Given the description of an element on the screen output the (x, y) to click on. 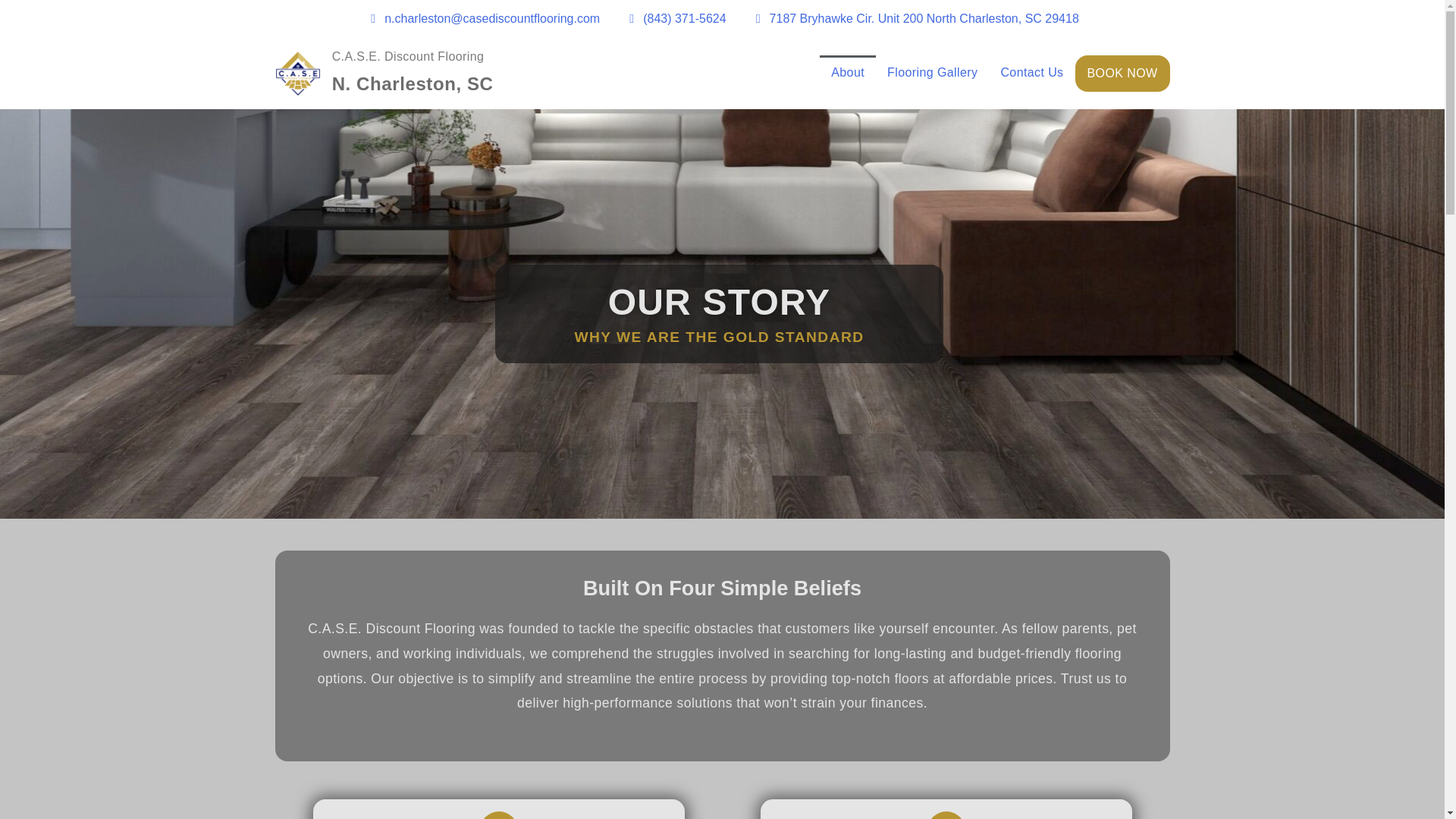
About (847, 72)
7187 Bryhawke Cir. Unit 200 North Charleston, SC 29418 (914, 18)
Contact Us (1031, 72)
C.A.S.E. Discount Flooring (407, 56)
Flooring Gallery (932, 72)
BOOK NOW (1122, 73)
